Given the description of an element on the screen output the (x, y) to click on. 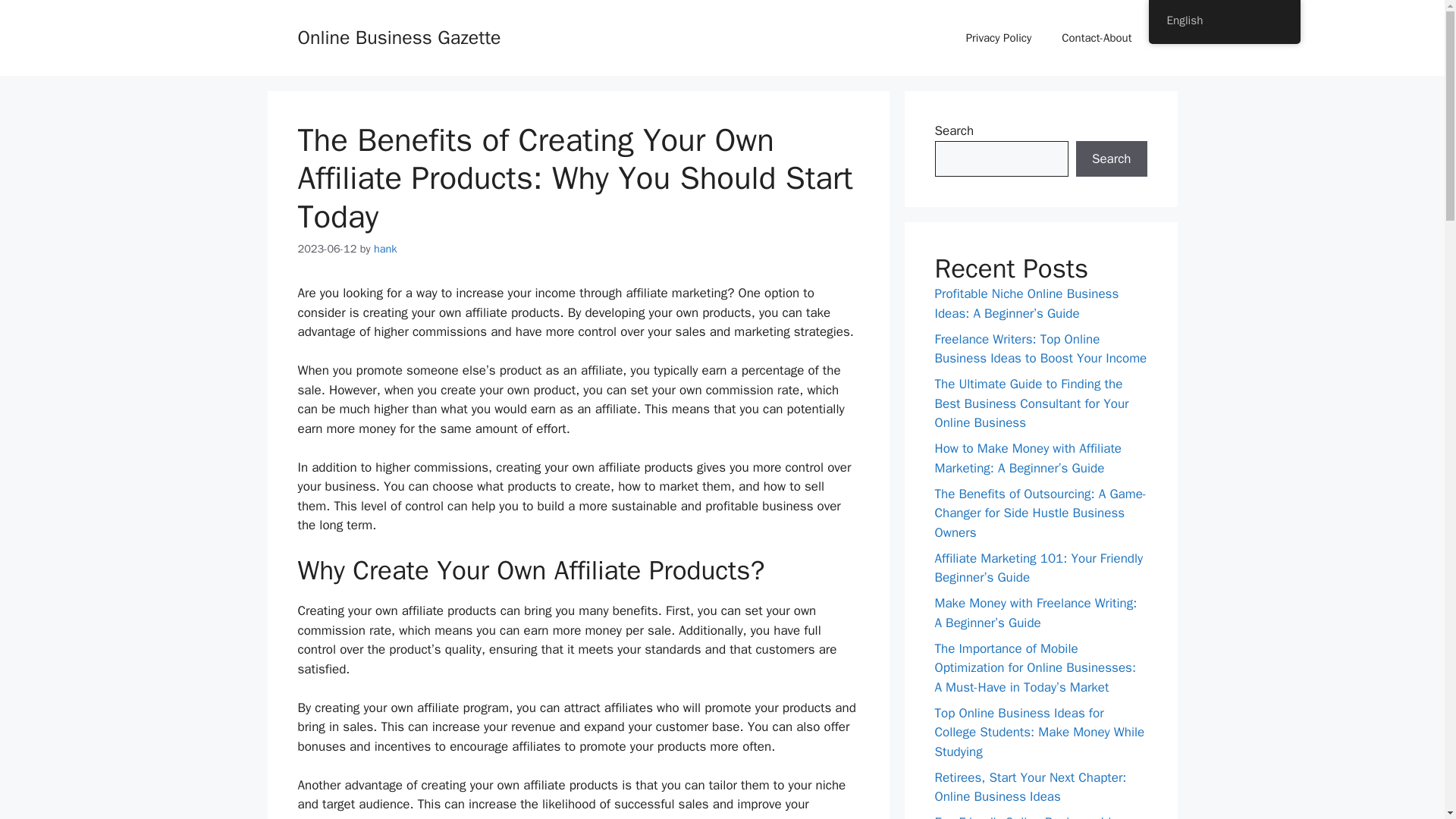
Online Business Gazette (398, 37)
Contact-About (1096, 37)
Search (1111, 158)
Retirees, Start Your Next Chapter: Online Business Ideas (1029, 786)
View all posts by hank (385, 248)
English (1224, 20)
hank (385, 248)
